Given the description of an element on the screen output the (x, y) to click on. 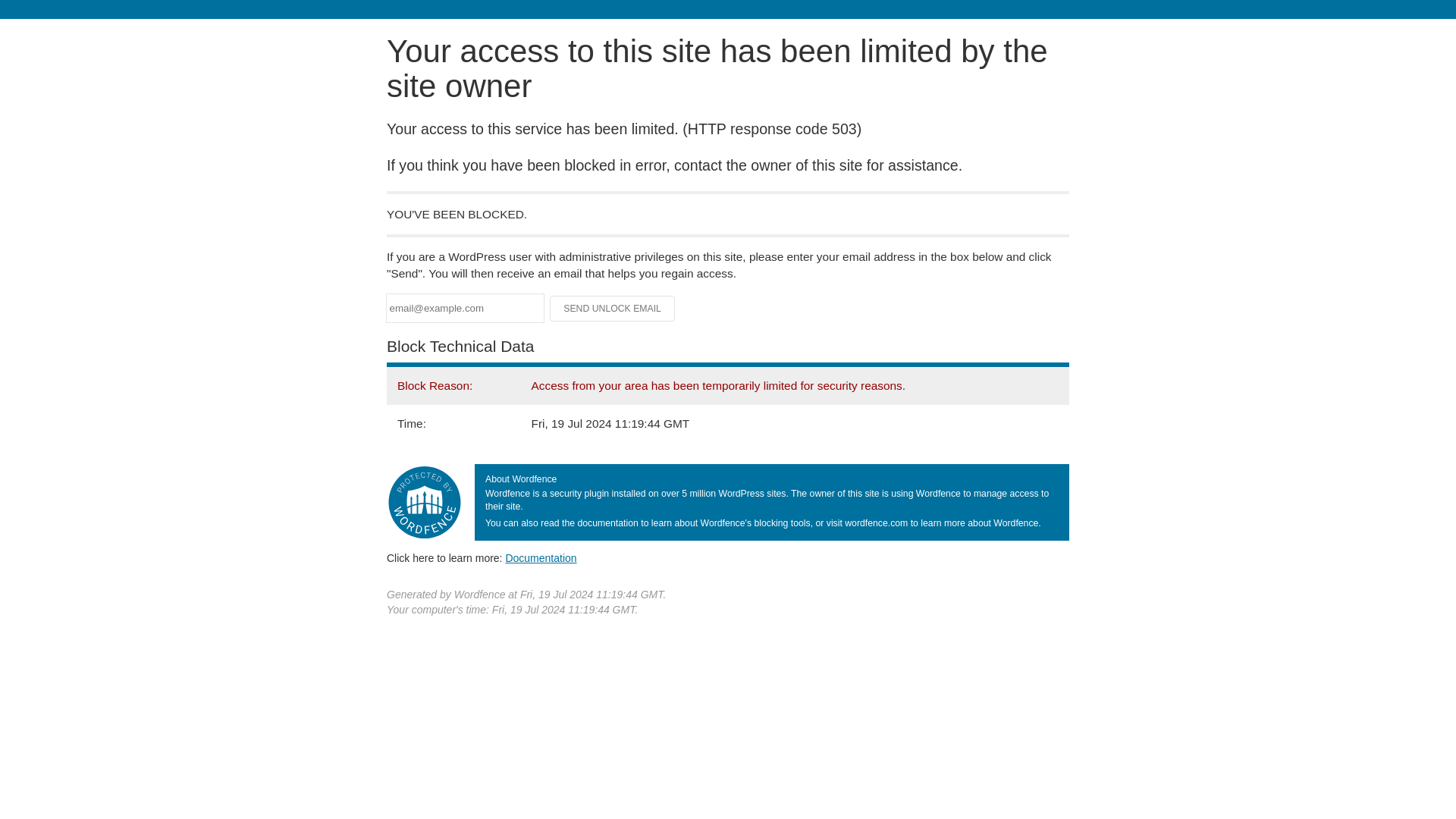
Send Unlock Email (612, 308)
Send Unlock Email (612, 308)
Documentation (540, 558)
